Given the description of an element on the screen output the (x, y) to click on. 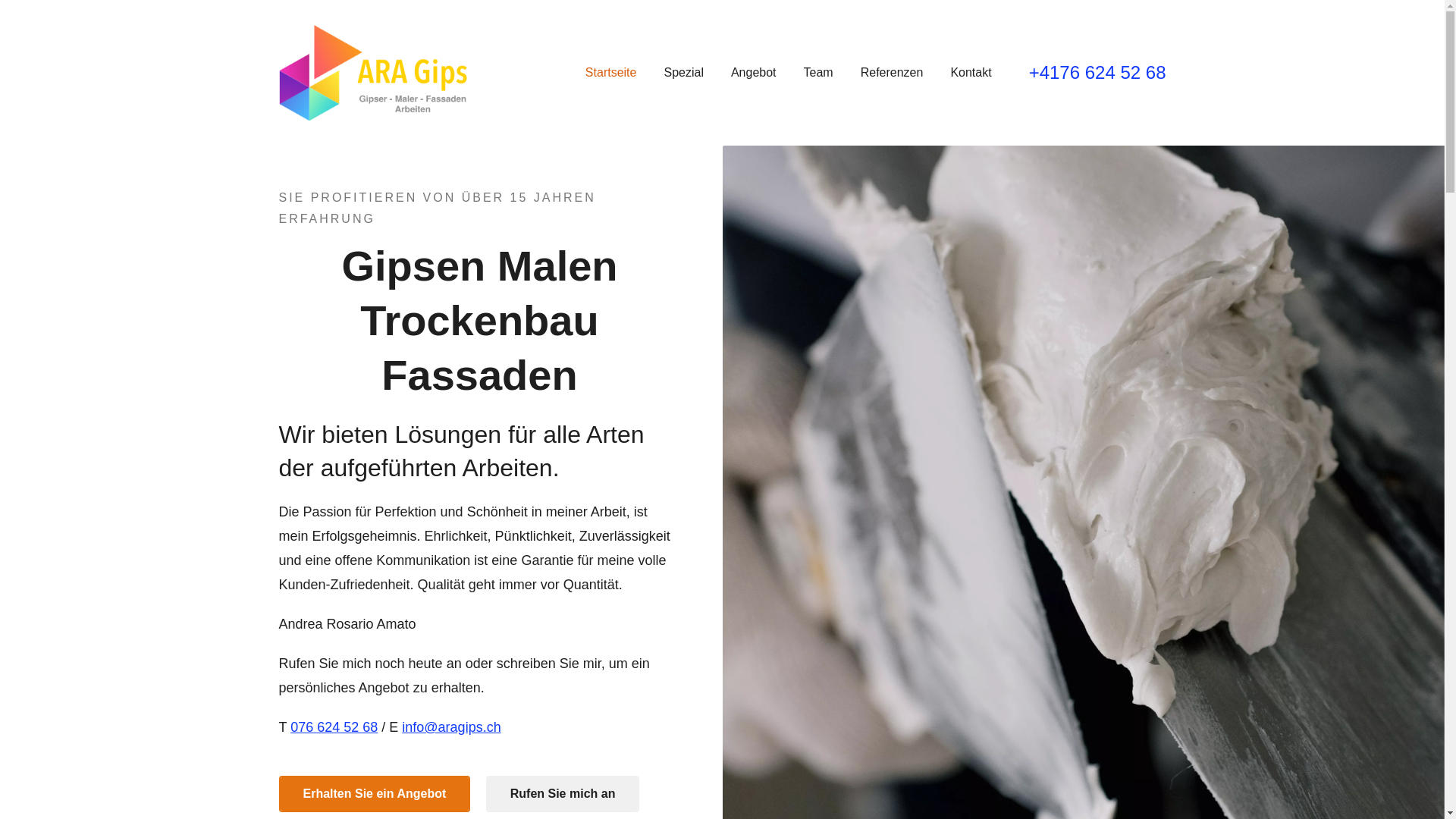
Startseite Element type: text (611, 72)
Rufen Sie mich an Element type: text (563, 793)
Erhalten Sie ein Angebot Element type: text (374, 793)
Referenzen Element type: text (891, 72)
Angebot Element type: text (753, 72)
Team Element type: text (818, 72)
076 624 52 68 Element type: text (333, 726)
Kontakt Element type: text (970, 72)
Spezial Element type: text (682, 72)
info@aragips.ch Element type: text (450, 726)
